Given the description of an element on the screen output the (x, y) to click on. 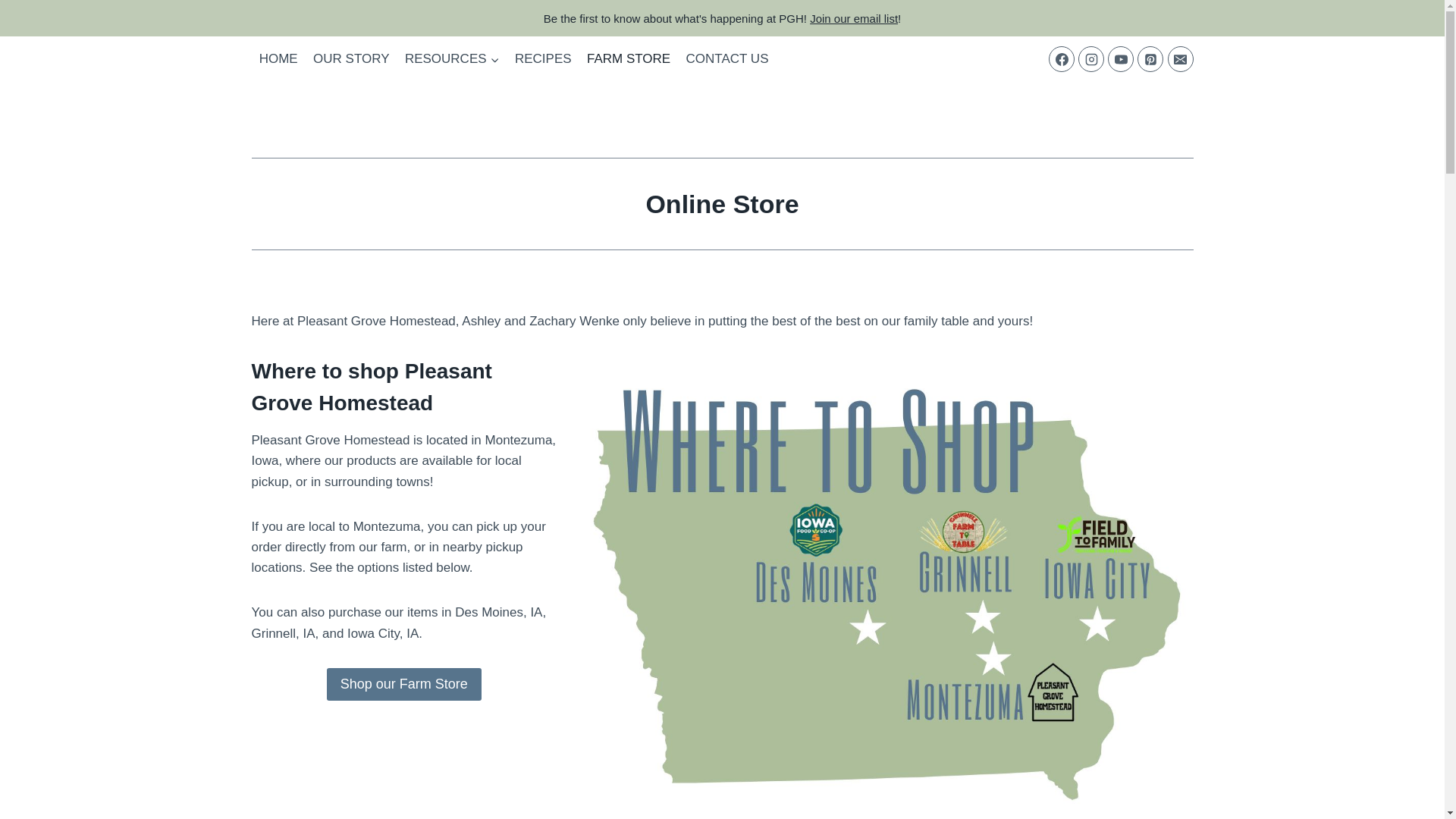
RESOURCES (451, 58)
Join our email list (853, 18)
CONTACT US (727, 58)
FARM STORE (628, 58)
OUR STORY (351, 58)
Shop our Farm Store (403, 684)
RECIPES (542, 58)
HOME (278, 58)
